Given the description of an element on the screen output the (x, y) to click on. 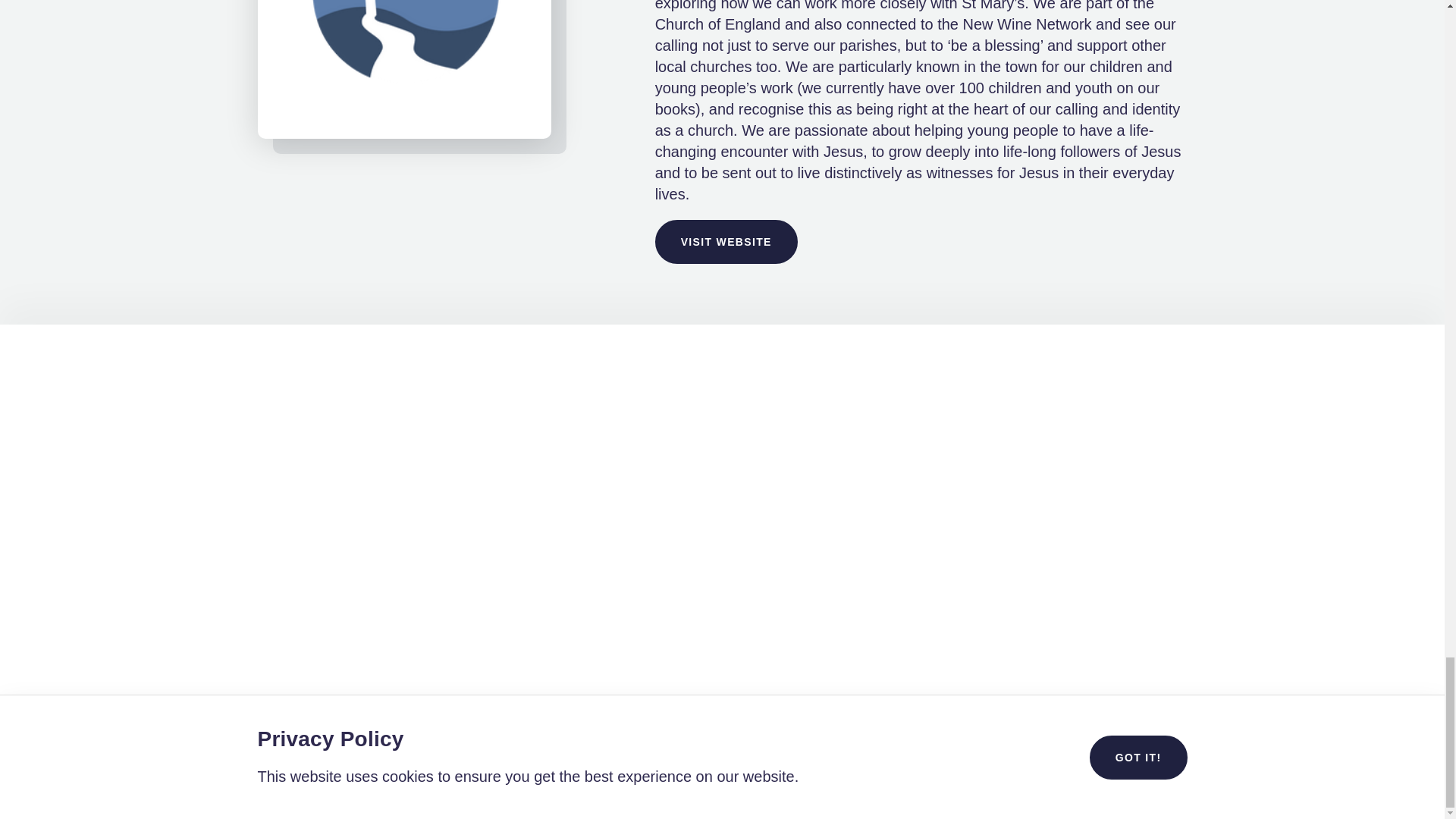
VISIT WEBSITE (726, 241)
